Given the description of an element on the screen output the (x, y) to click on. 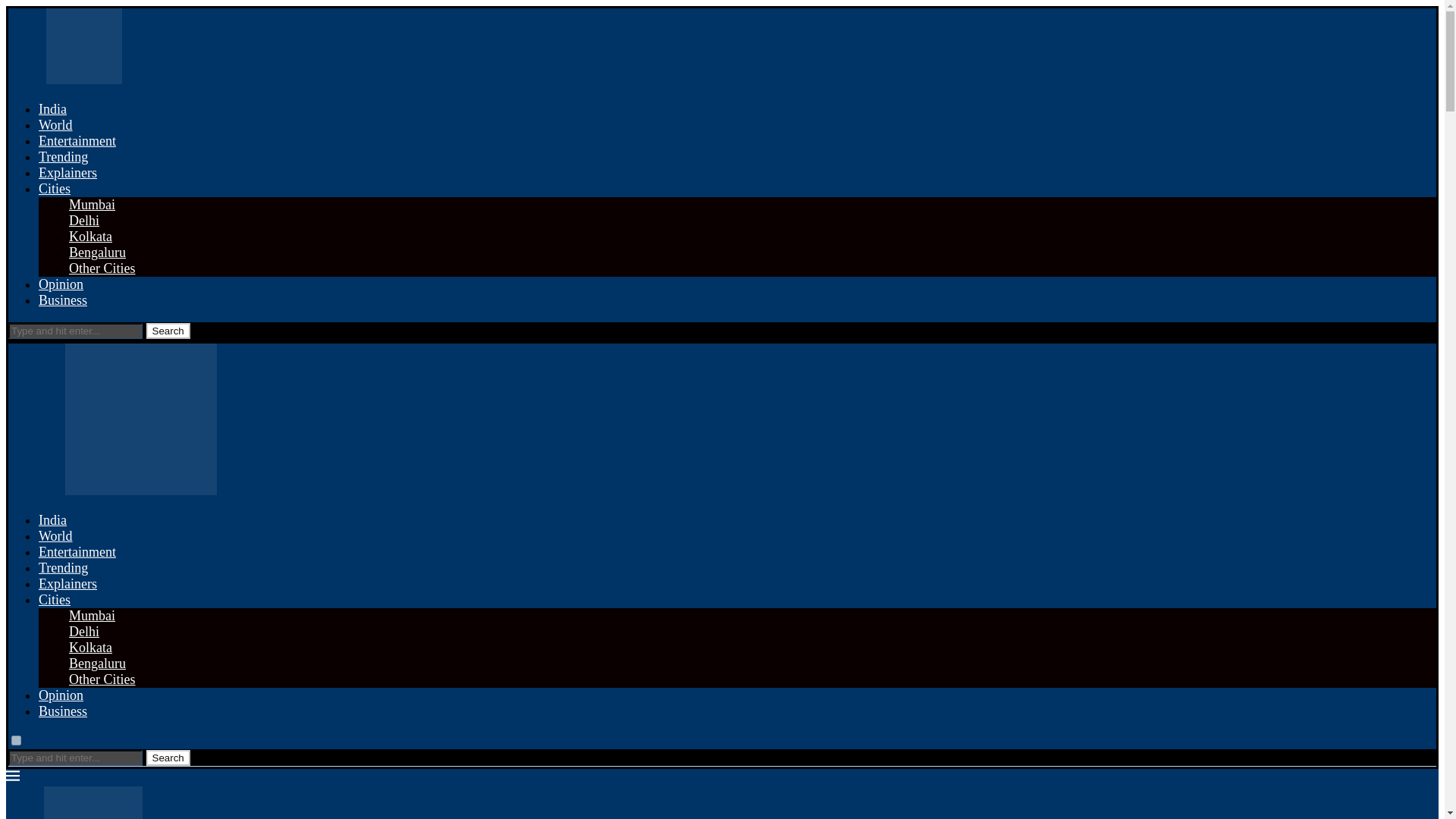
Bengaluru (96, 663)
India (52, 519)
Entertainment (77, 140)
Bengaluru (96, 252)
Business (63, 711)
Trending (63, 156)
Search (167, 757)
Cities (54, 599)
Business (63, 299)
Kolkata (90, 647)
